Given the description of an element on the screen output the (x, y) to click on. 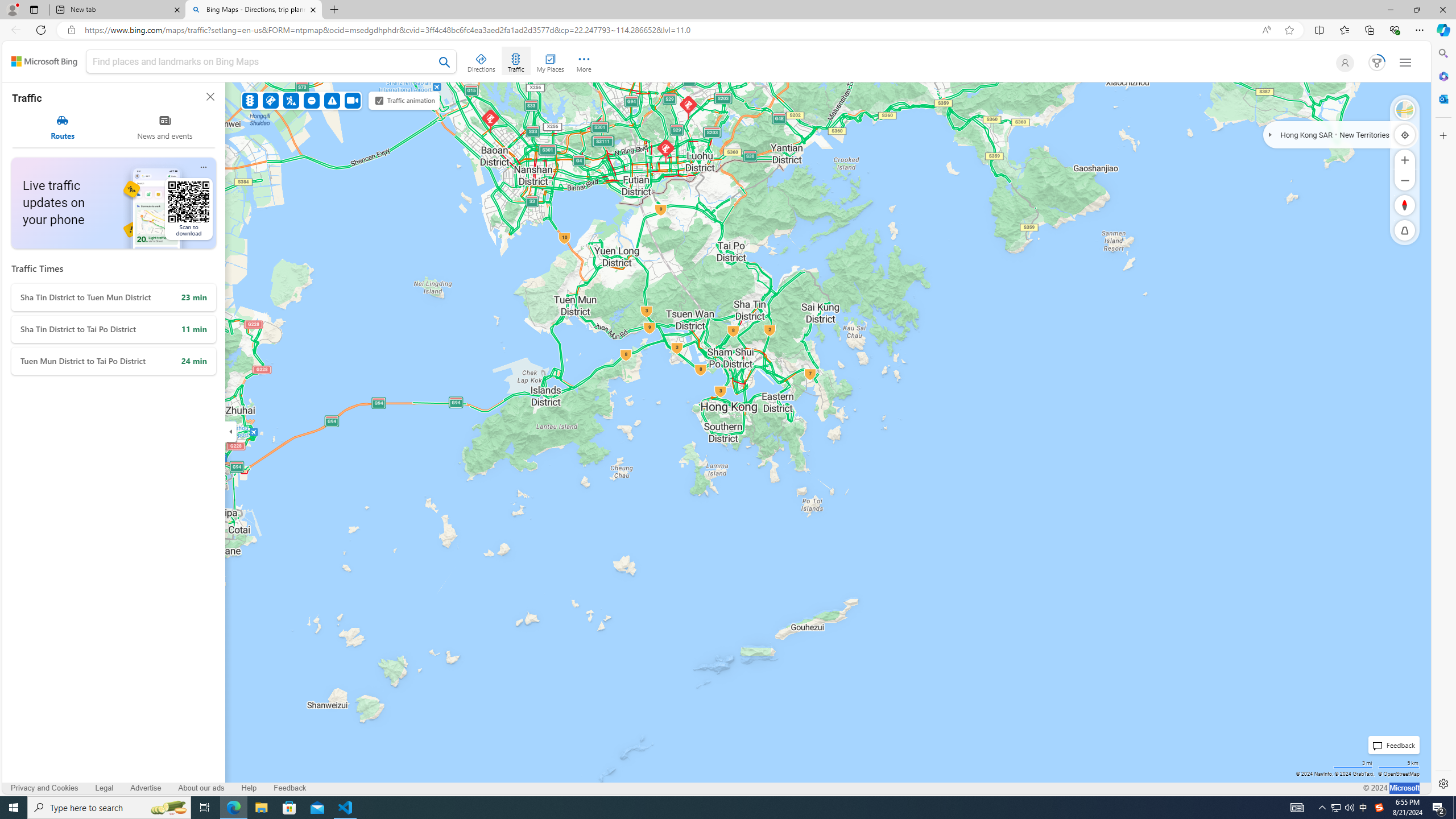
Cameras (353, 100)
Class: inputbox (270, 62)
Expand/Collapse Cards (230, 431)
Select Style (1404, 109)
My Places (549, 60)
AutomationID: rh_meter (1377, 61)
Locate me (1404, 134)
